Given the description of an element on the screen output the (x, y) to click on. 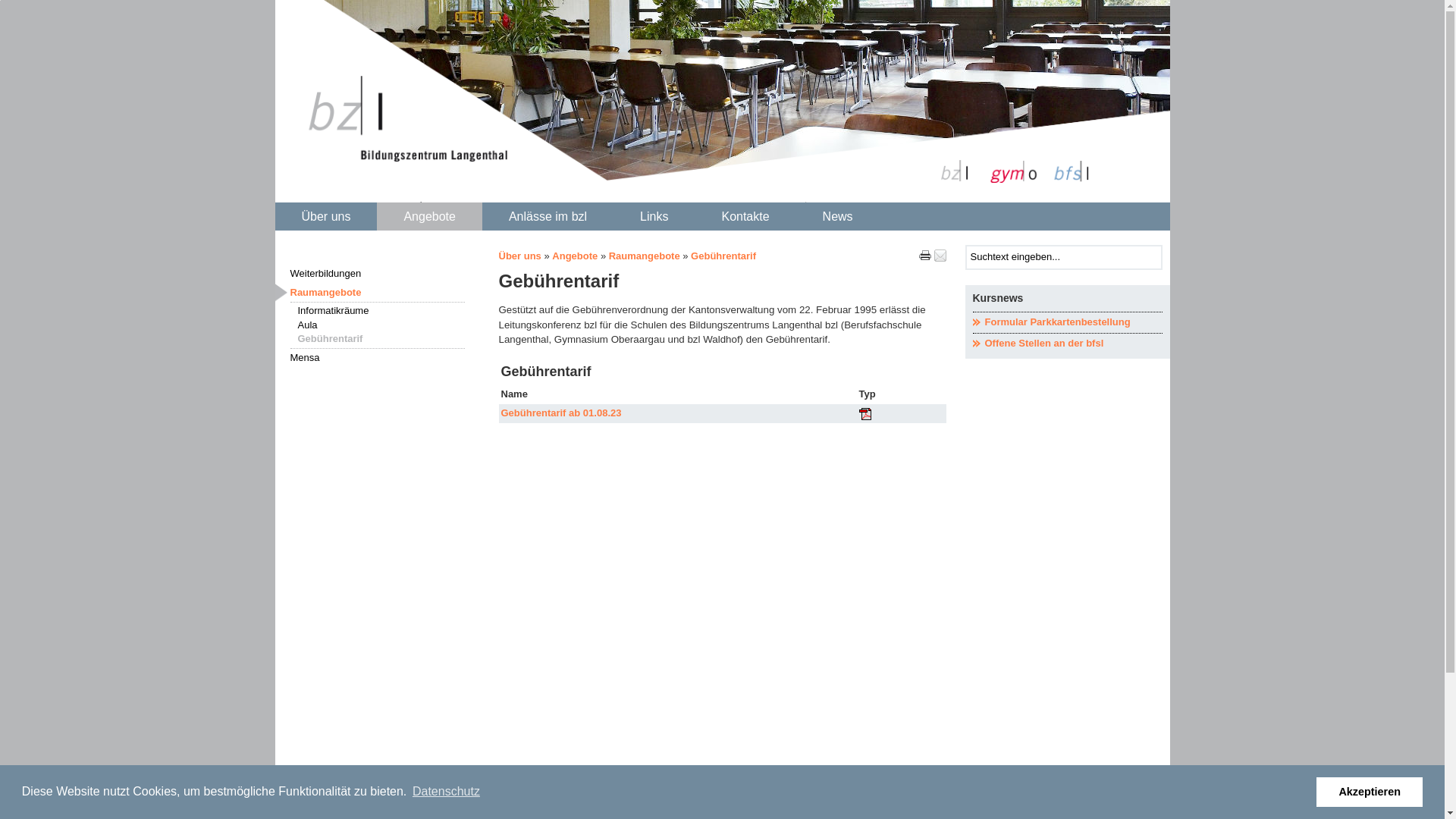
Angebote Element type: text (574, 255)
Angebote Element type: text (429, 217)
Raumangebote Element type: text (376, 292)
Weiterbildungen Element type: text (376, 273)
Kontakte Element type: text (744, 217)
Offene Stellen an der bfsl  Element type: text (1066, 343)
Datenschutz Element type: text (446, 791)
Links Element type: text (653, 217)
Akzeptieren Element type: text (1369, 791)
seite weiterempfehlen Element type: hover (940, 255)
Raumangebote Element type: text (644, 255)
News Element type: text (837, 217)
Formular Parkkartenbestellung Element type: text (1066, 322)
Aula Element type: text (380, 325)
Mensa Element type: text (376, 357)
